Given the description of an element on the screen output the (x, y) to click on. 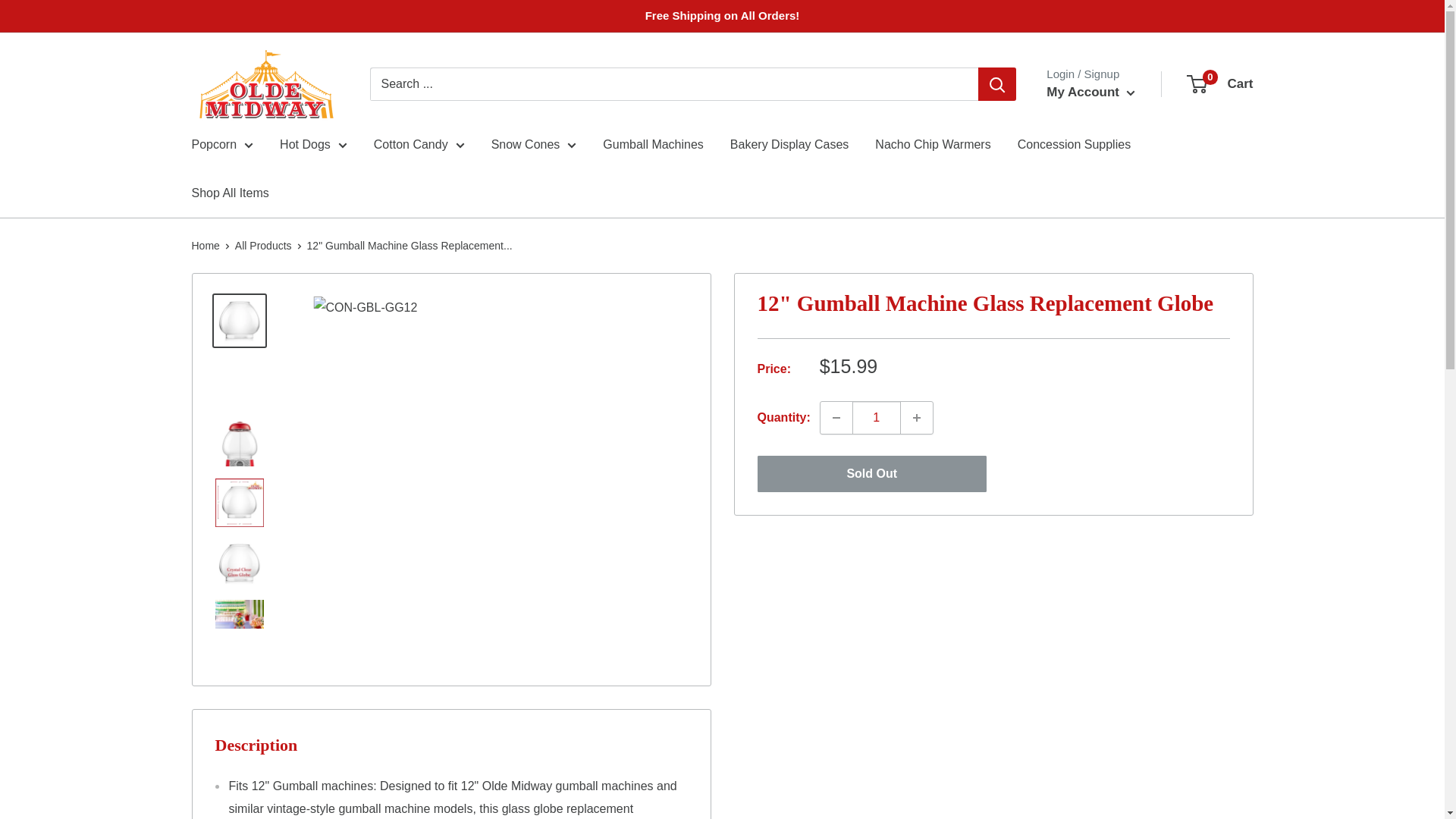
1 (876, 418)
Decrease quantity by 1 (836, 418)
Olde Midway (264, 83)
Increase quantity by 1 (917, 418)
Free Shipping on All Orders! (722, 15)
